Given the description of an element on the screen output the (x, y) to click on. 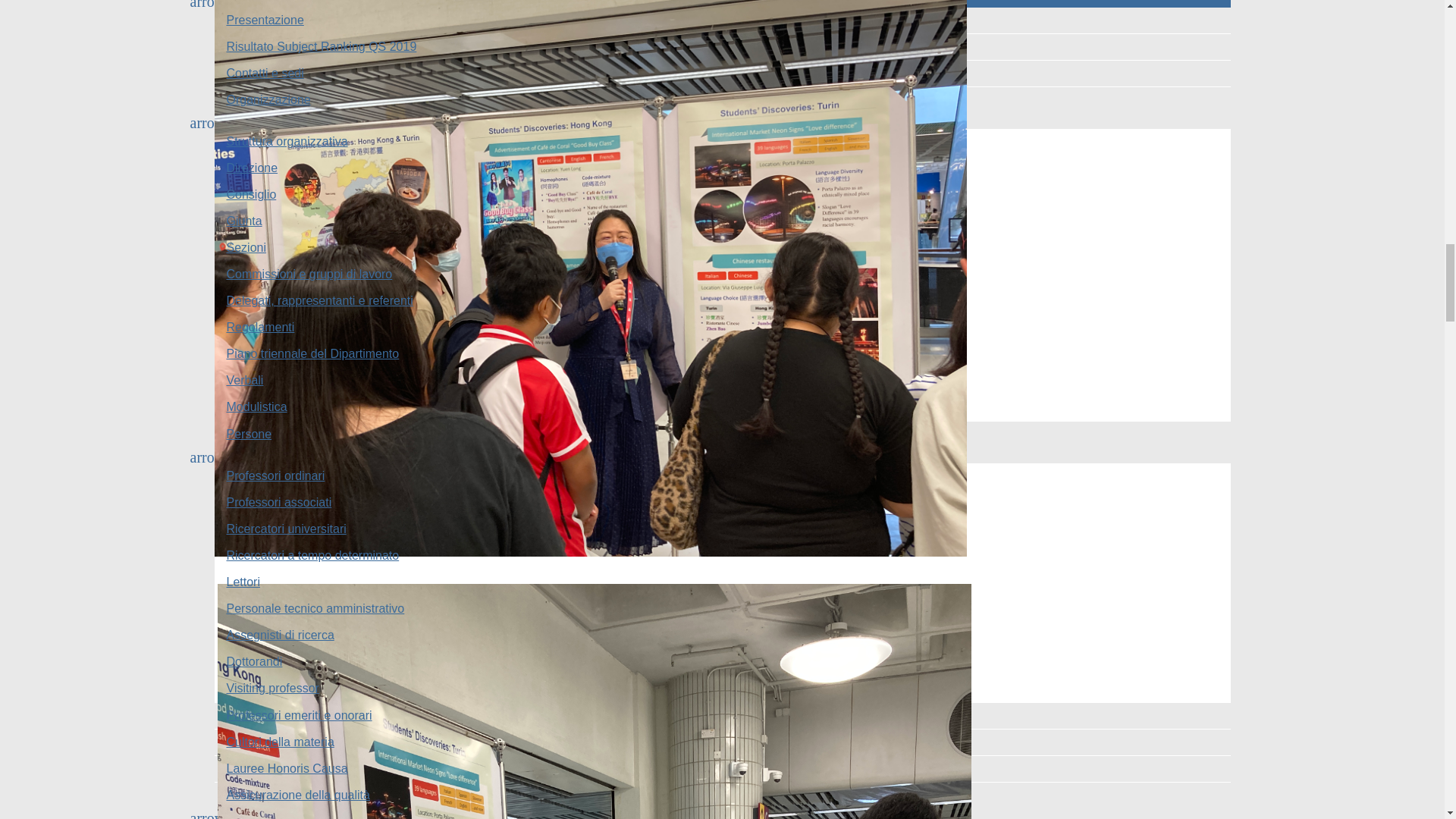
Regolamenti (722, 327)
Direzione (722, 167)
Contatti e sedi (722, 73)
Delegati, rappresentanti e referenti (722, 300)
Presentazione (722, 20)
Sezioni (722, 248)
Struttura organizzativa (722, 141)
Commissioni e gruppi di lavoro (722, 274)
Consiglio (722, 194)
Organizzazione (722, 99)
Piano triennale del Dipartimento (722, 353)
Giunta (722, 221)
Risultato Subject Ranking QS 2019 (722, 46)
